Given the description of an element on the screen output the (x, y) to click on. 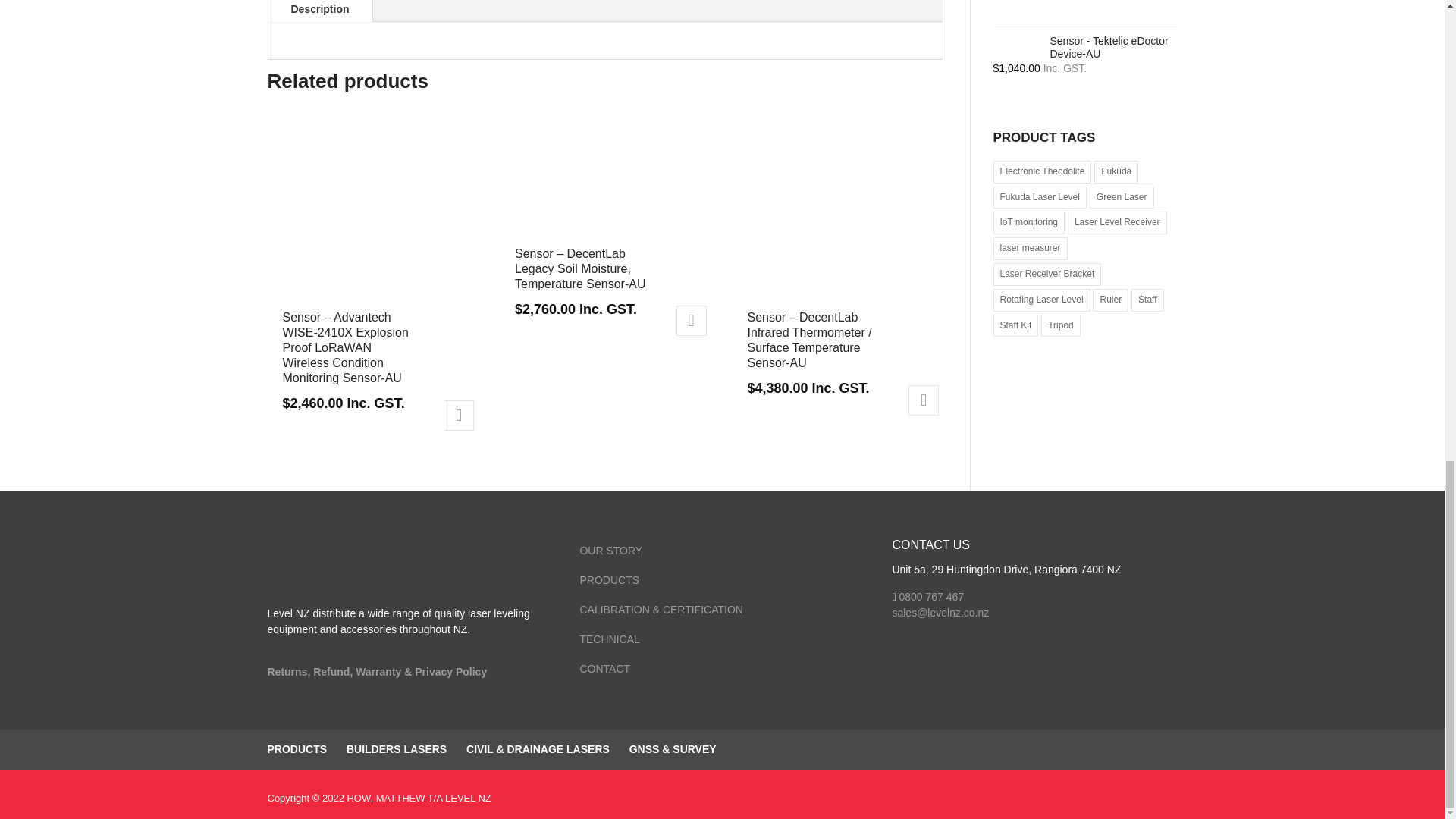
Add to cart (691, 320)
Sensor - Polysense CO Sensor-AU 2 (603, 183)
Add to cart (459, 415)
Sensor - Polysense CO Sensor-AU 3 (834, 215)
Sensor - Polysense CO Sensor-AU 1 (370, 215)
Add to cart (923, 399)
Description (319, 11)
